Given the description of an element on the screen output the (x, y) to click on. 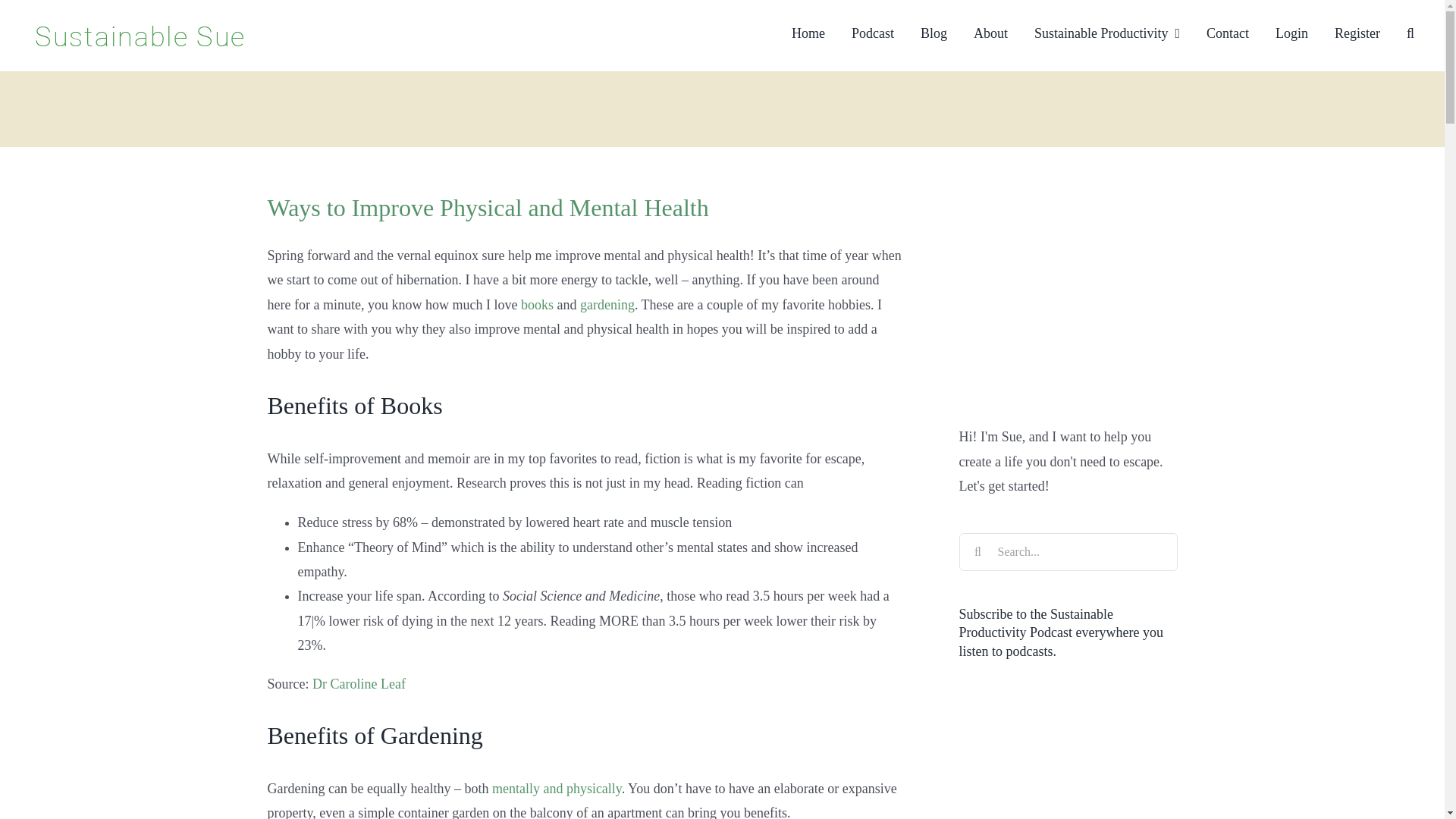
gardening (606, 304)
books (537, 304)
Ways to Improve Physical and Mental Health (486, 207)
Sustainable Productivity (1106, 31)
mentally and physically (556, 788)
Dr Caroline Leaf (359, 683)
